Given the description of an element on the screen output the (x, y) to click on. 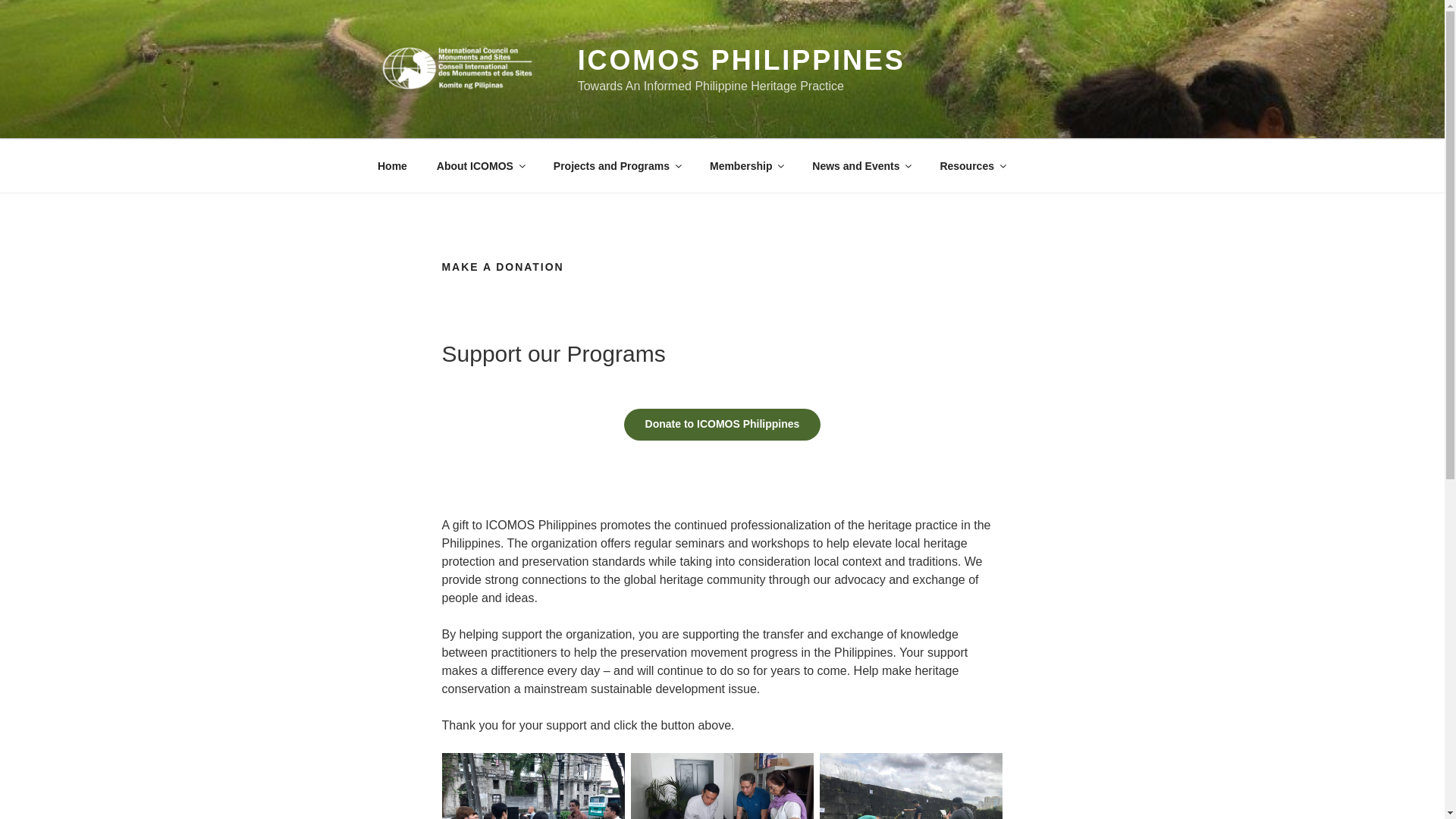
Resources (971, 165)
News and Events (861, 165)
About ICOMOS (480, 165)
ICOMOS PHILIPPINES (741, 60)
Home (392, 165)
Membership (744, 165)
Projects and Programs (616, 165)
